Given the description of an element on the screen output the (x, y) to click on. 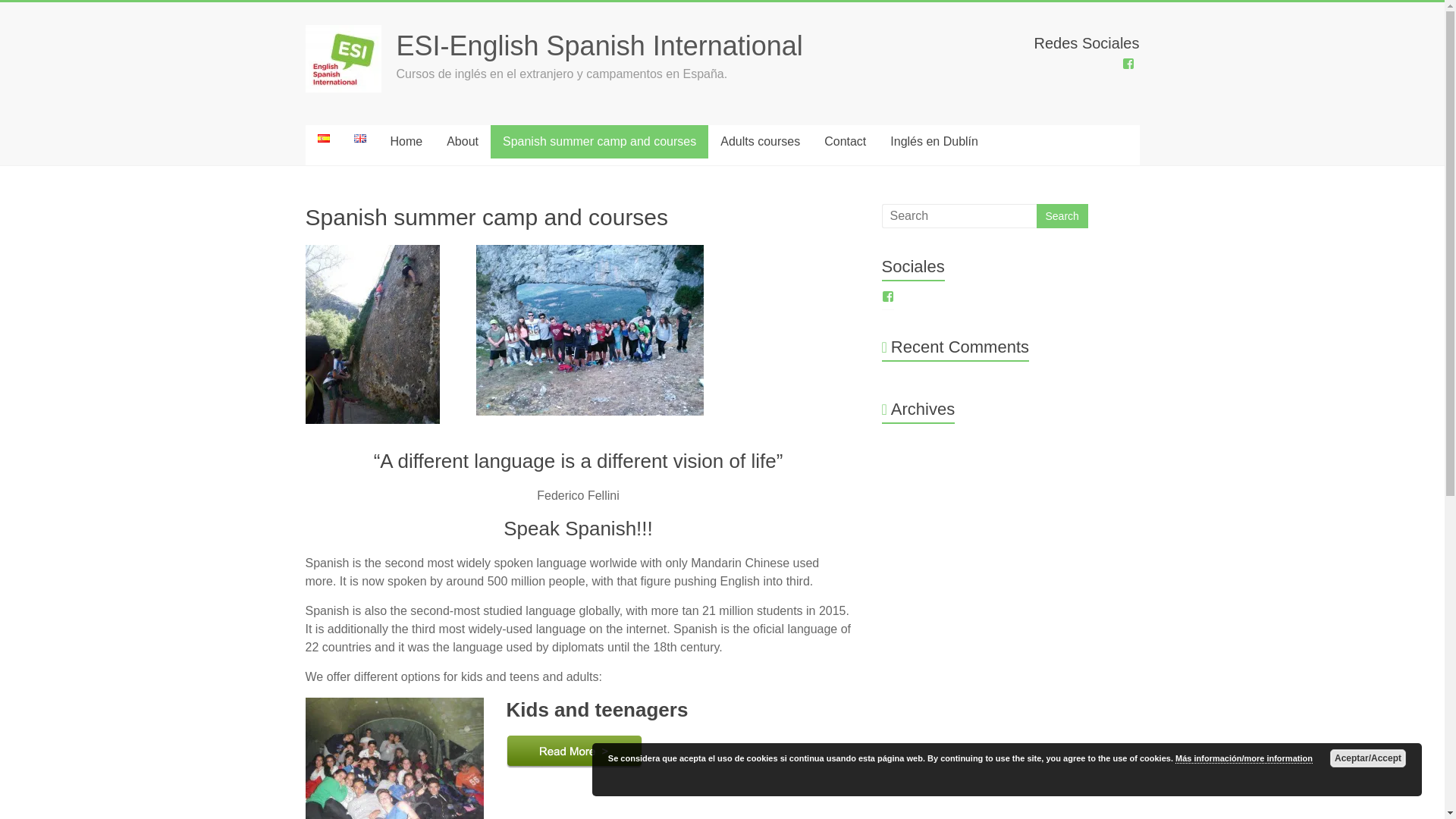
Home (405, 141)
About (461, 141)
Contact (844, 141)
Search (1061, 215)
Adults courses (759, 141)
ESI-English Spanish International (599, 45)
Spanish summer camp and courses (598, 141)
Search (1061, 215)
ESI-English Spanish International (599, 45)
